Given the description of an element on the screen output the (x, y) to click on. 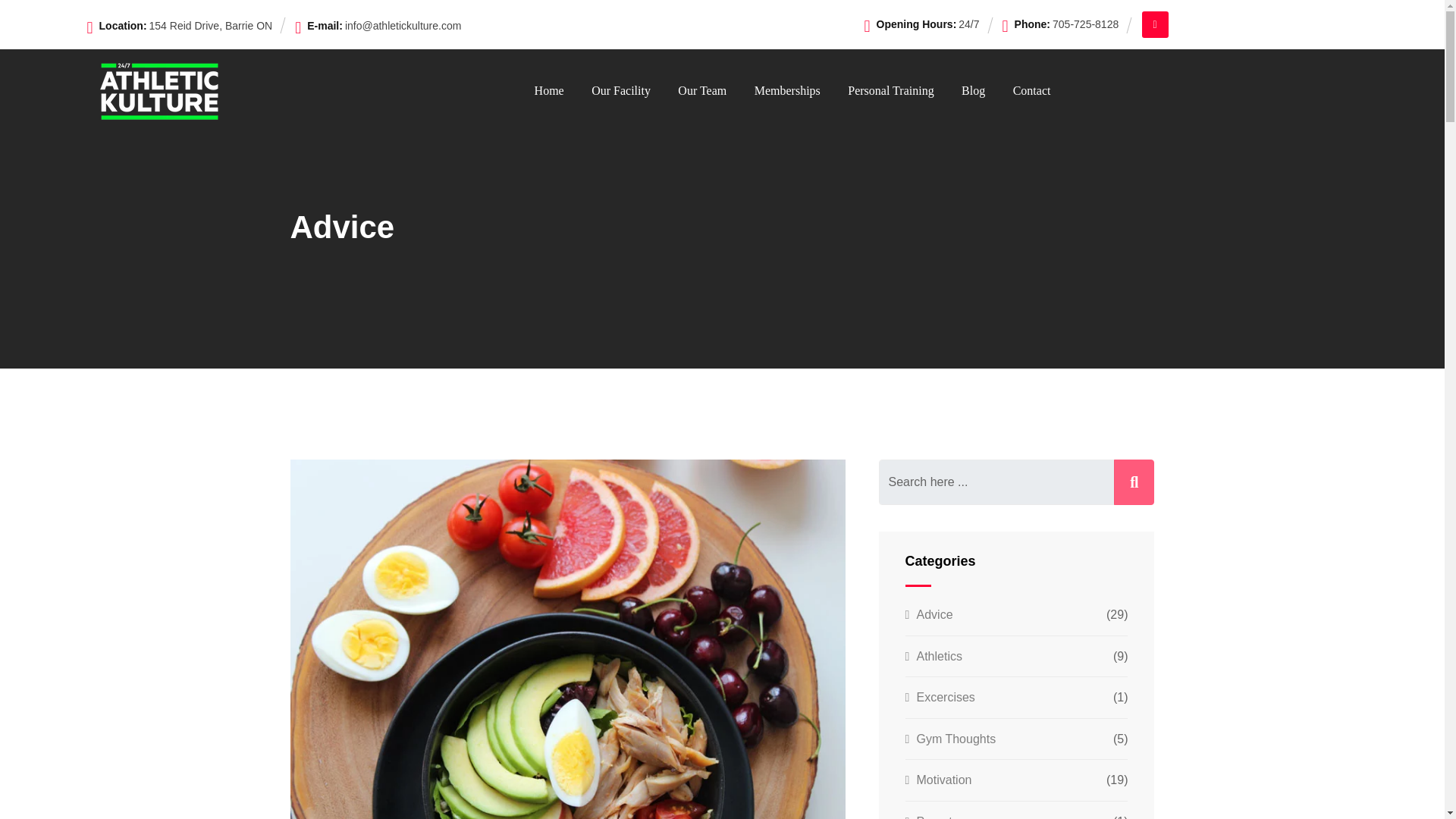
Our Facility (620, 90)
Memberships (787, 90)
GET A MEMBERSHIP TODAY (1246, 24)
Contact (1032, 90)
Blog (972, 90)
Home (549, 90)
Personal Training (890, 90)
Our Team (702, 90)
